Given the description of an element on the screen output the (x, y) to click on. 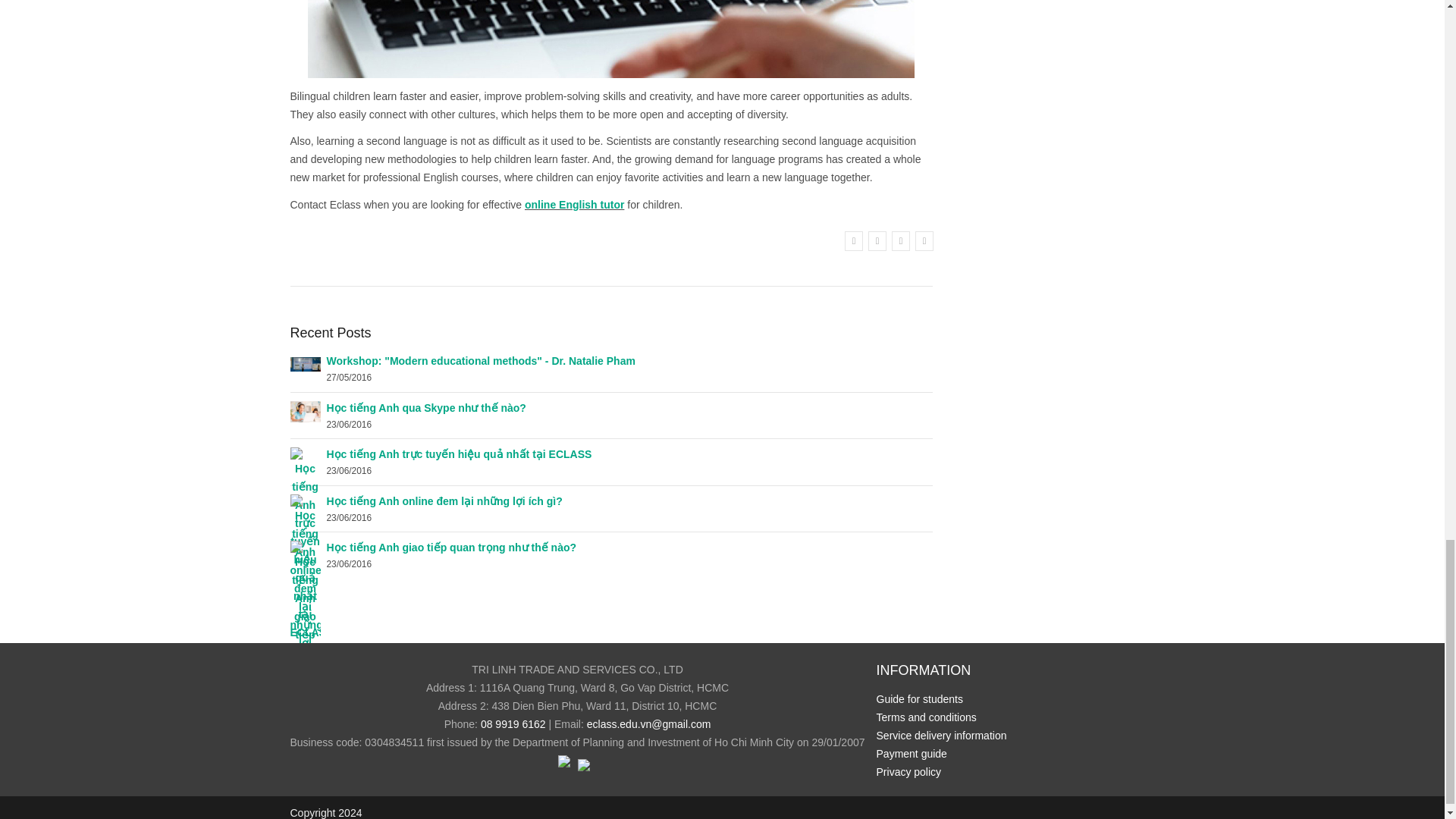
online English tutor (574, 204)
Workshop: "Modern educational methods" - Dr. Natalie Pham (480, 360)
Guide for students (919, 698)
Workshop: "Modern educational methods" - Dr. Natalie Pham (480, 360)
08 9919 6162 (513, 724)
Terms and conditions (926, 717)
Workshop: "Modern educational methods" - Dr. Natalie Pham (304, 363)
